Given the description of an element on the screen output the (x, y) to click on. 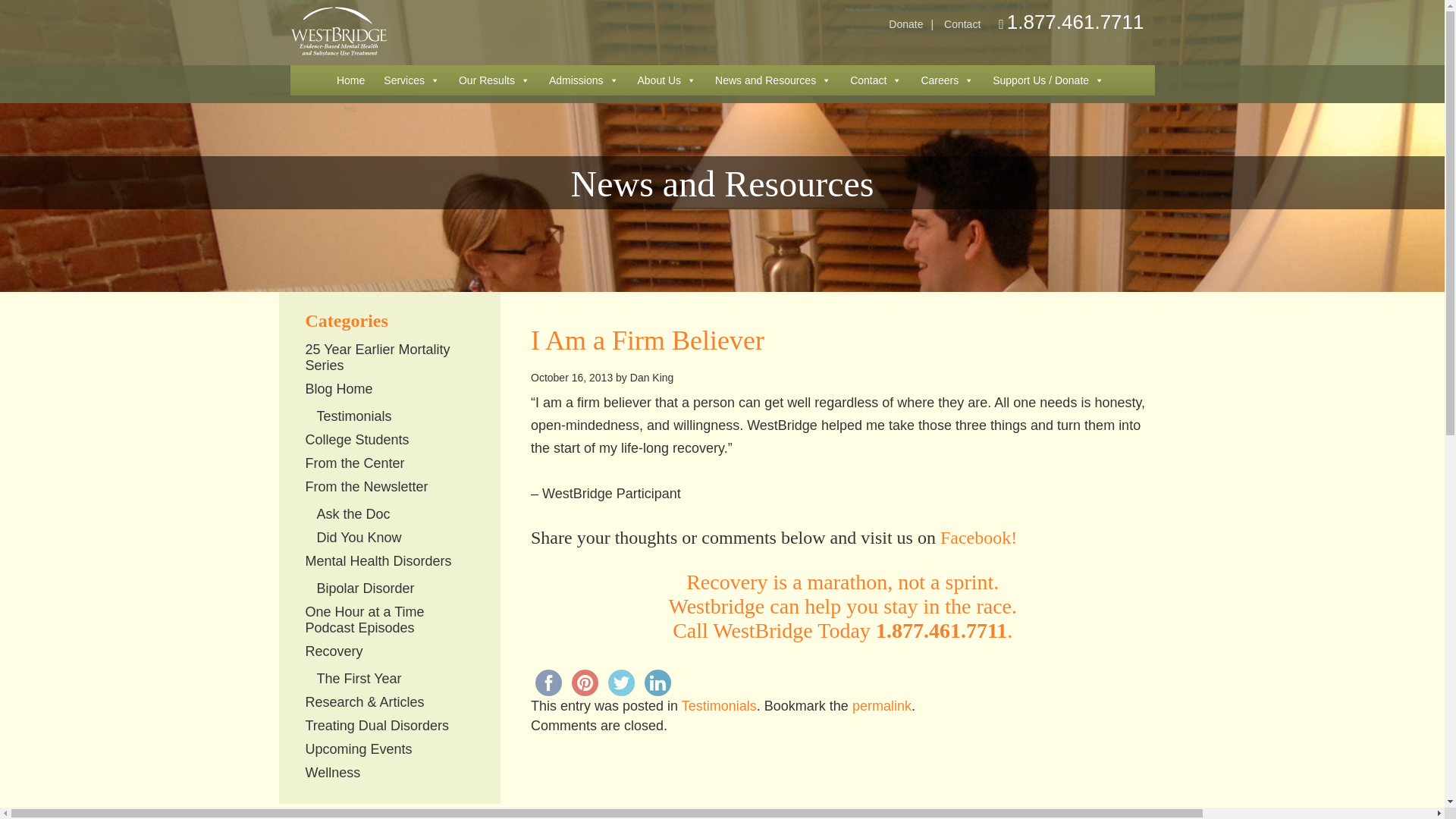
Admissions (583, 80)
Services (410, 80)
1.877.461.7711 (1075, 22)
Contact (875, 80)
twitter (621, 683)
Home (350, 80)
facebook (548, 683)
News and Resources (772, 80)
linkedin (657, 683)
Donate (905, 24)
